Given the description of an element on the screen output the (x, y) to click on. 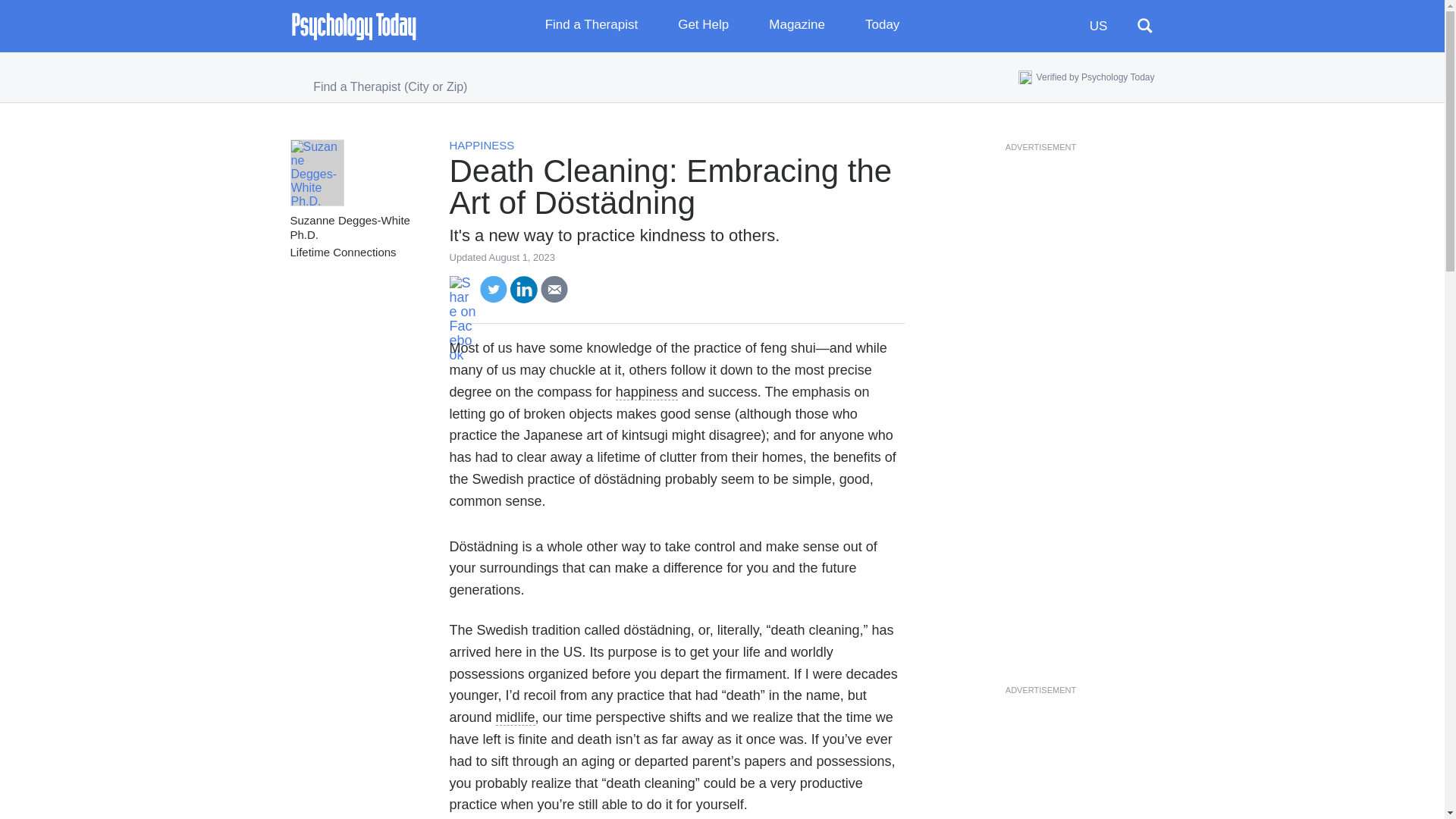
Find a Therapist (602, 25)
Psychology Today (352, 25)
advertisement (1040, 374)
Get Help (714, 25)
